Given the description of an element on the screen output the (x, y) to click on. 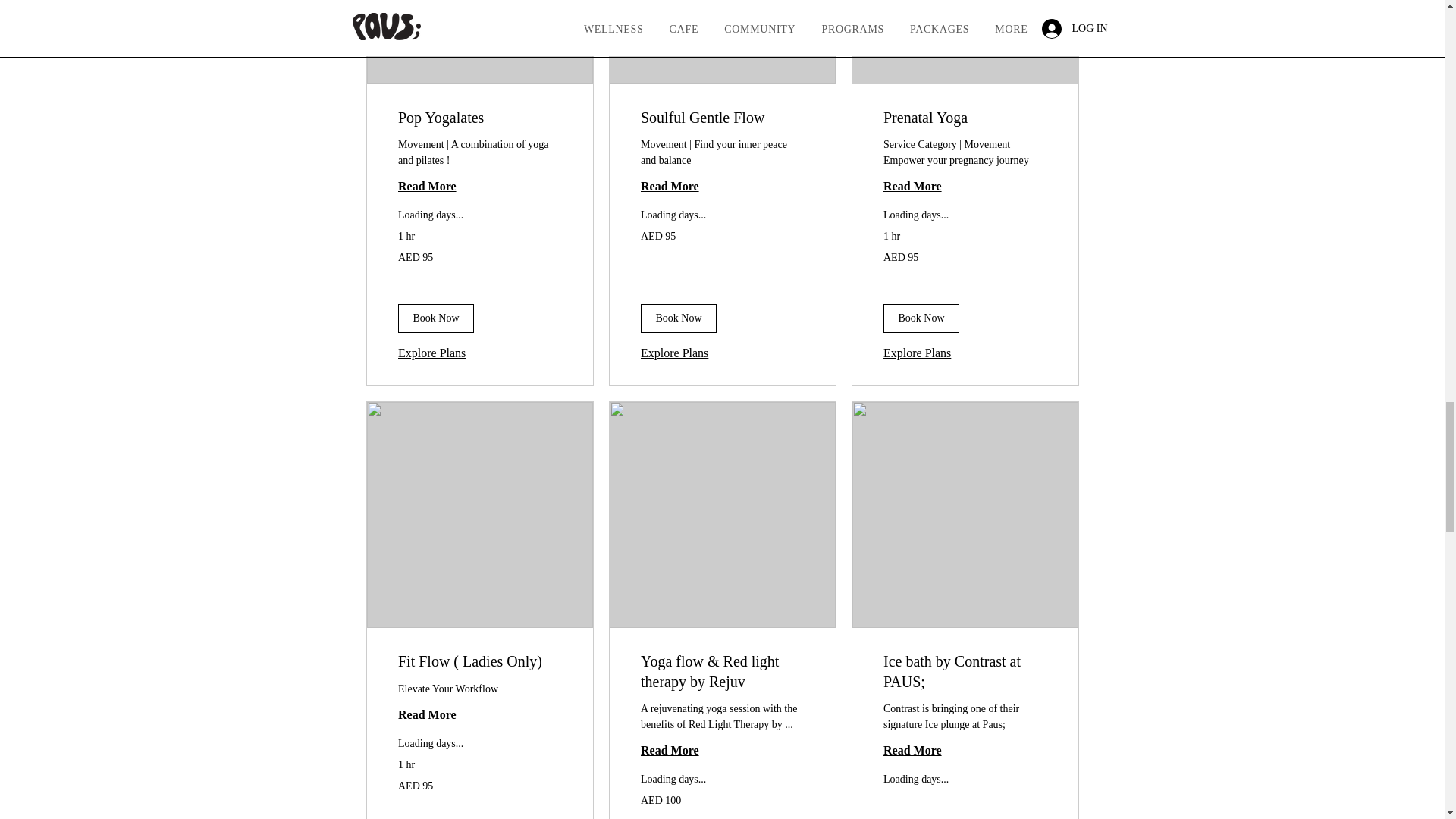
Book Now (435, 317)
Explore Plans (430, 352)
Explore Plans (673, 352)
Soulful Gentle Flow (721, 117)
Prenatal Yoga (964, 117)
Read More (721, 186)
Read More (964, 186)
Explore Plans (916, 352)
Book Now (678, 317)
Read More (478, 186)
Pop Yogalates (478, 117)
Read More (478, 714)
Book Now (920, 317)
